Given the description of an element on the screen output the (x, y) to click on. 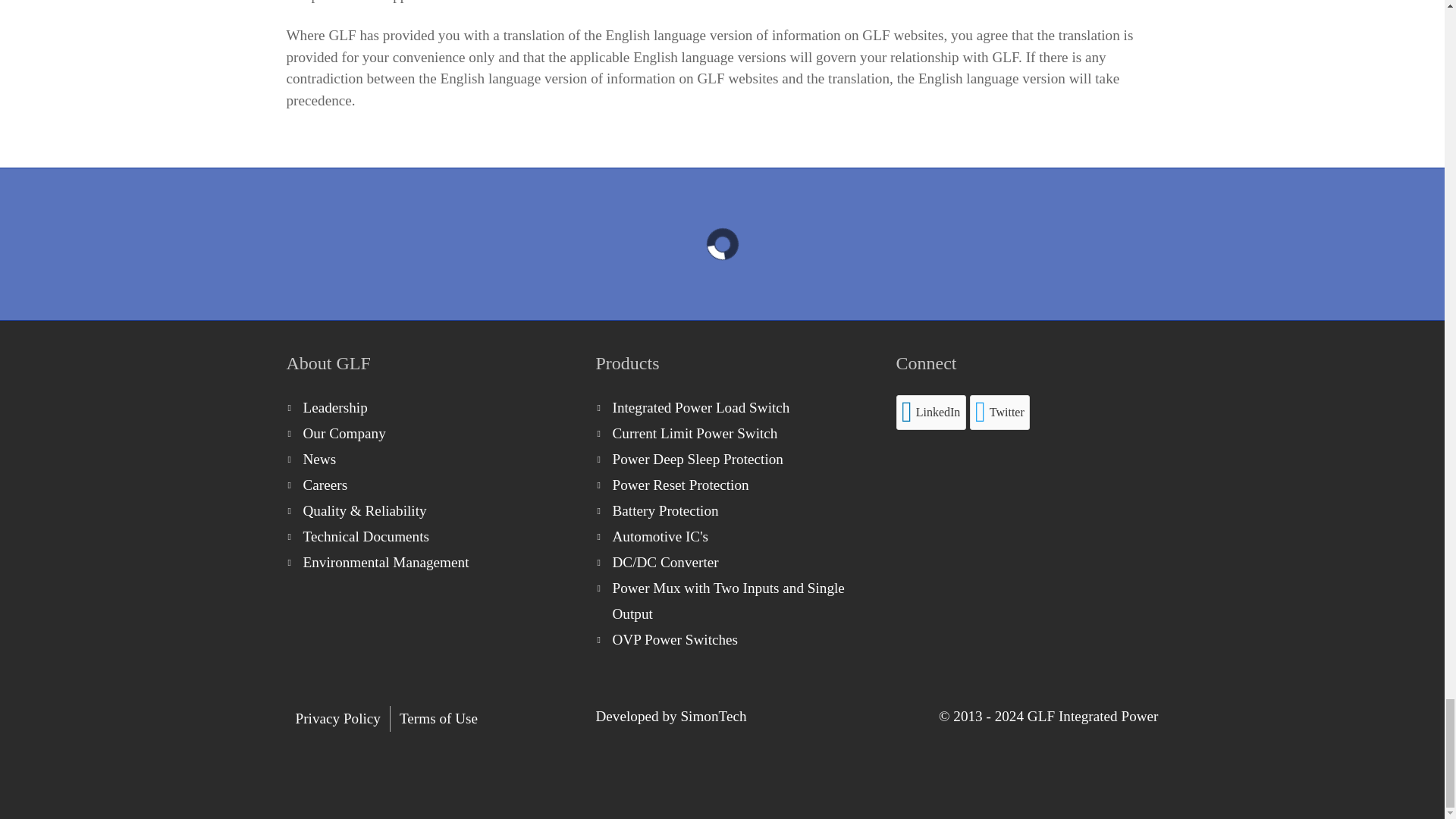
Our Company (426, 433)
GLF Integrated Power Twitter (999, 411)
SimonTech (712, 715)
Careers (426, 484)
News (426, 459)
LinkedIn (931, 411)
Request a Sample now (721, 243)
Leadership (426, 407)
